Given the description of an element on the screen output the (x, y) to click on. 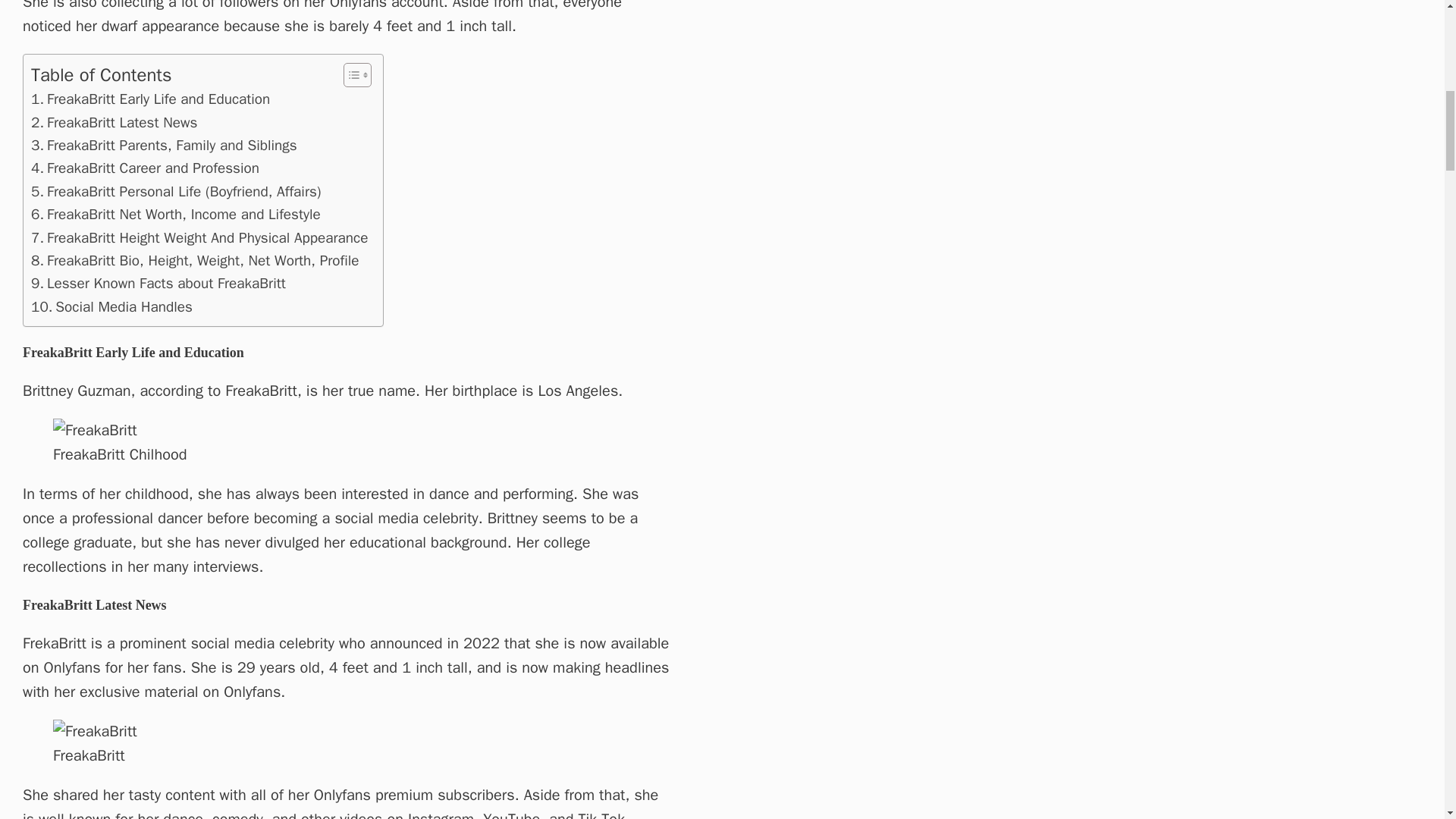
FreakaBritt Latest News (113, 122)
FreakaBritt Career and Profession (144, 168)
FreakaBritt Net Worth, Income and Lifestyle (175, 214)
FreakaBritt Career and Profession (144, 168)
FreakaBritt Height Weight And Physical Appearance (199, 237)
FreakaBritt Net Worth, Income and Lifestyle (175, 214)
Lesser Known Facts about FreakaBritt (157, 282)
Social Media Handles (111, 306)
FreakaBritt Latest News (113, 122)
Lesser Known Facts about FreakaBritt (157, 282)
FreakaBritt Parents, Family and Siblings (163, 145)
FreakaBritt Parents, Family and Siblings (163, 145)
FreakaBritt Bio, Height, Weight, Net Worth, Profile (194, 260)
FreakaBritt Early Life and Education (149, 98)
FreakaBritt Early Life and Education (149, 98)
